Given the description of an element on the screen output the (x, y) to click on. 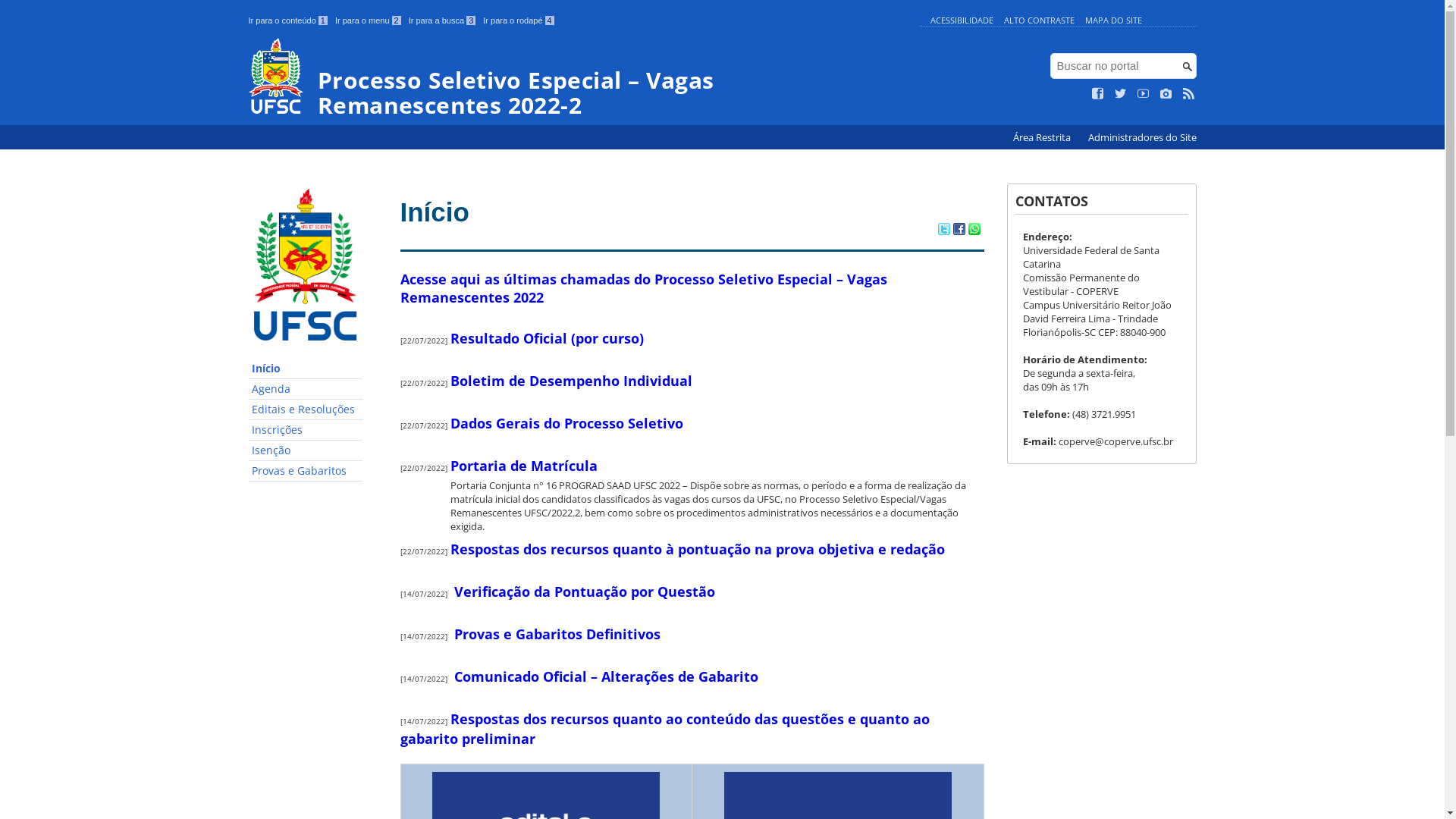
MAPA DO SITE Element type: text (1112, 19)
Administradores do Site Element type: text (1141, 137)
Veja no Instagram Element type: hover (1166, 93)
Dados Gerais do Processo Seletivo Element type: text (566, 423)
Compartilhar no Facebook Element type: hover (958, 230)
Provas e Gabaritos Element type: text (305, 471)
Ir para a busca 3 Element type: text (442, 20)
Boletim de Desempenho Individual Element type: text (571, 380)
ACESSIBILIDADE Element type: text (960, 19)
Resultado Oficial (por curso) Element type: text (546, 338)
Provas e Gabaritos Definitivos Element type: text (556, 633)
Curta no Facebook Element type: hover (1098, 93)
Compartilhar no Twitter Element type: hover (943, 230)
Agenda Element type: text (305, 389)
Ir para o menu 2 Element type: text (368, 20)
Compartilhar no WhatsApp Element type: hover (973, 230)
ALTO CONTRASTE Element type: text (1039, 19)
Siga no Twitter Element type: hover (1120, 93)
